Given the description of an element on the screen output the (x, y) to click on. 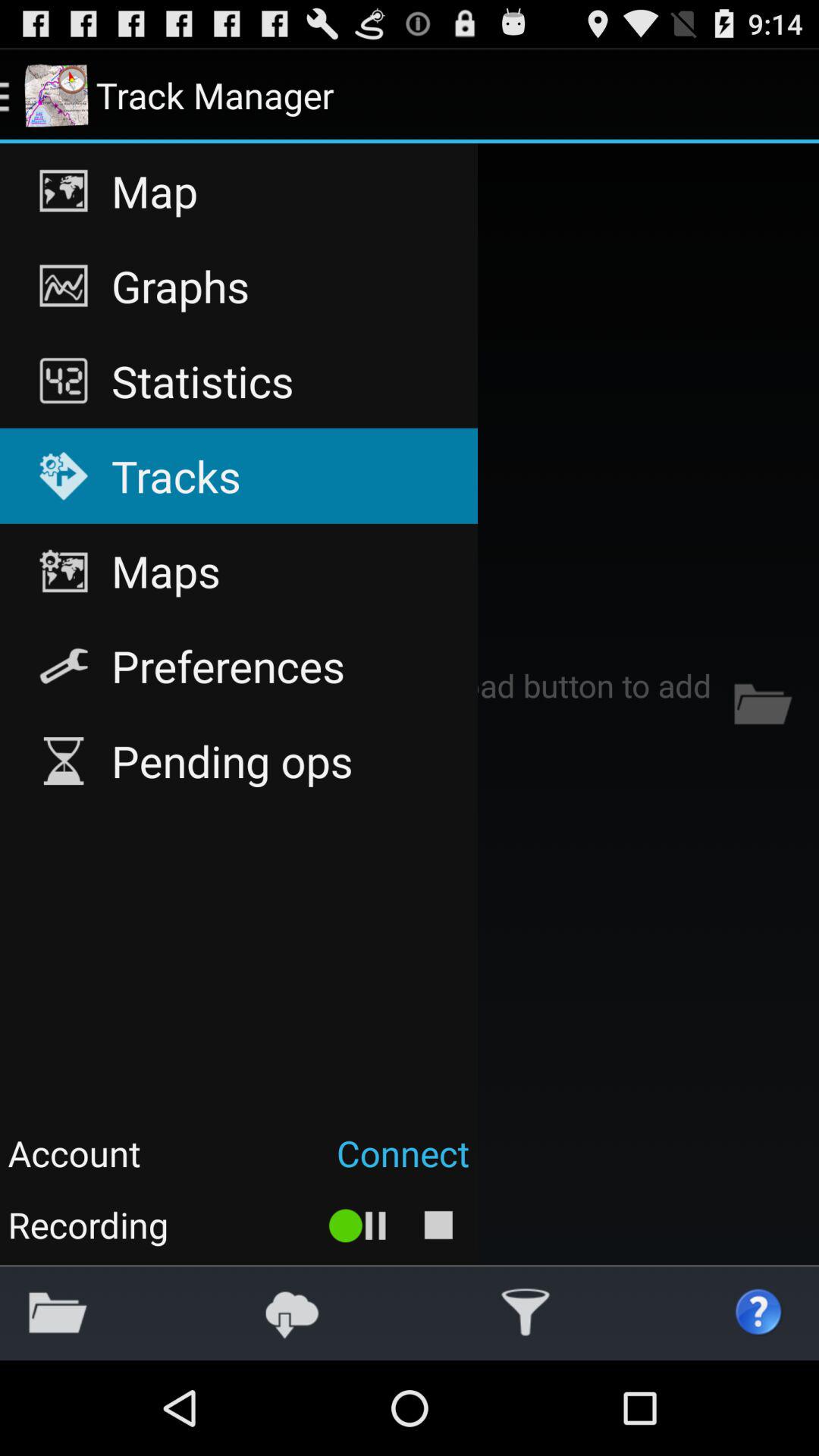
jump until preferences item (238, 665)
